Given the description of an element on the screen output the (x, y) to click on. 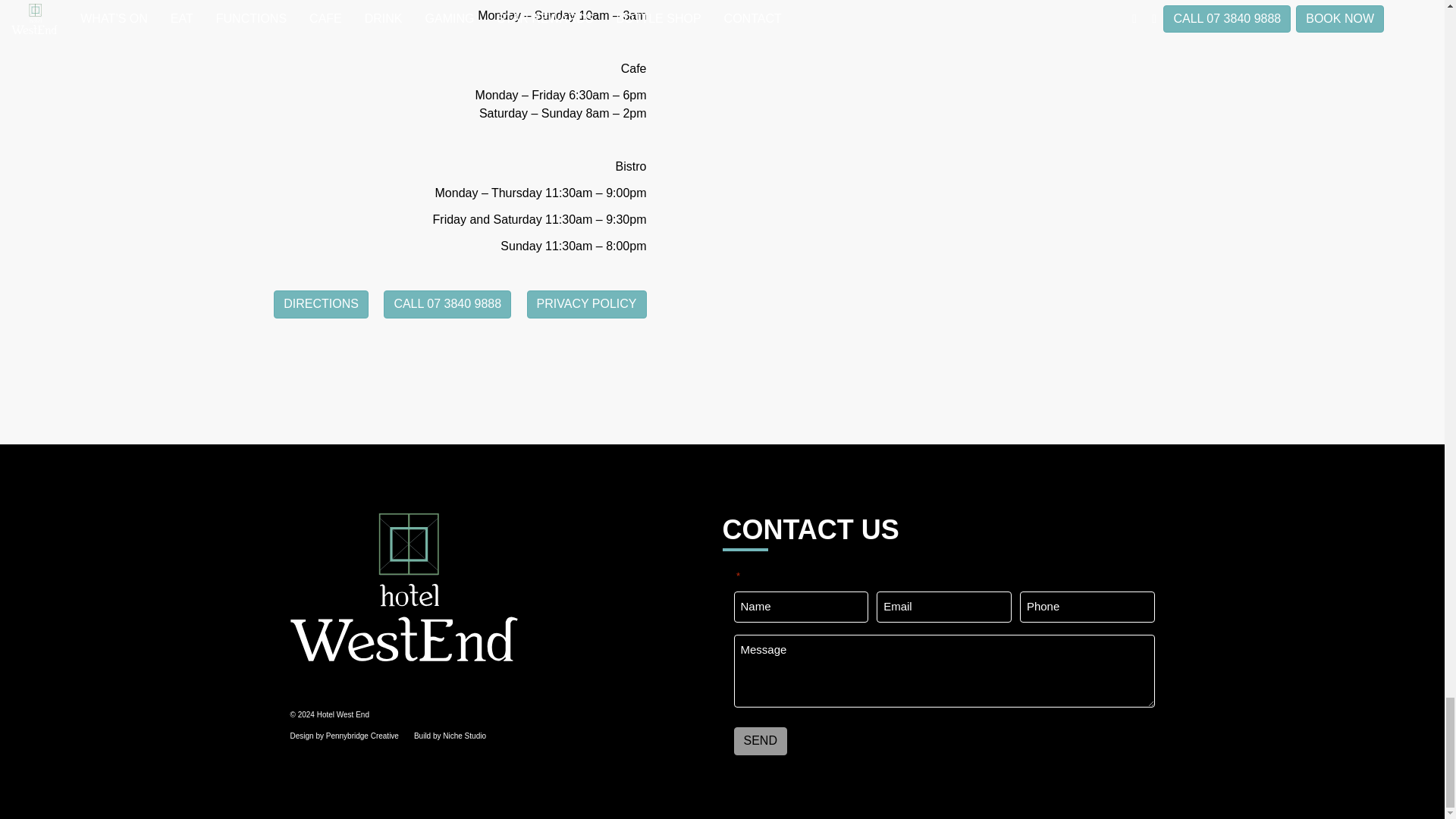
SEND (760, 741)
